Given the description of an element on the screen output the (x, y) to click on. 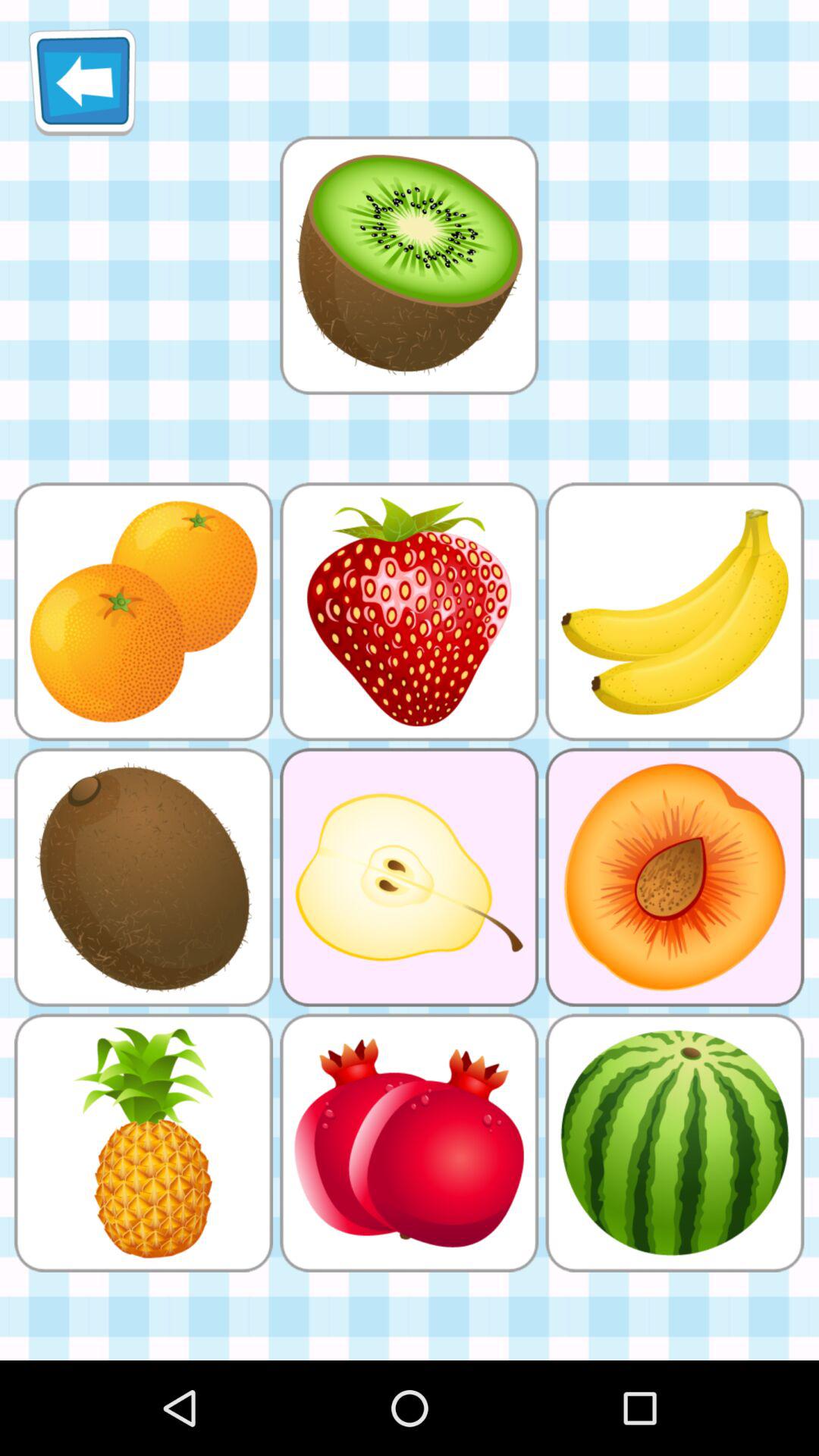
go back (82, 82)
